Given the description of an element on the screen output the (x, y) to click on. 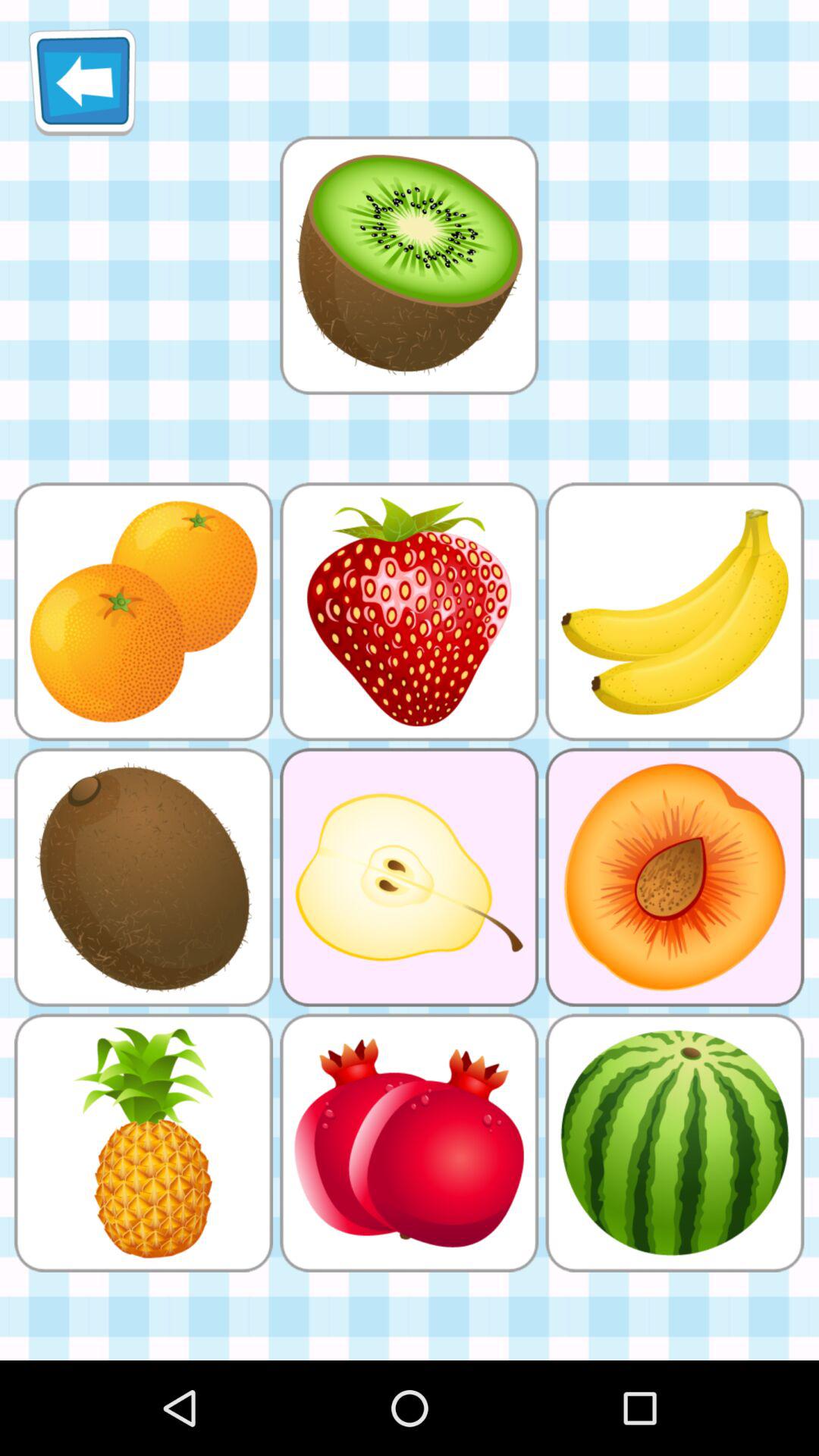
go back (82, 82)
